Given the description of an element on the screen output the (x, y) to click on. 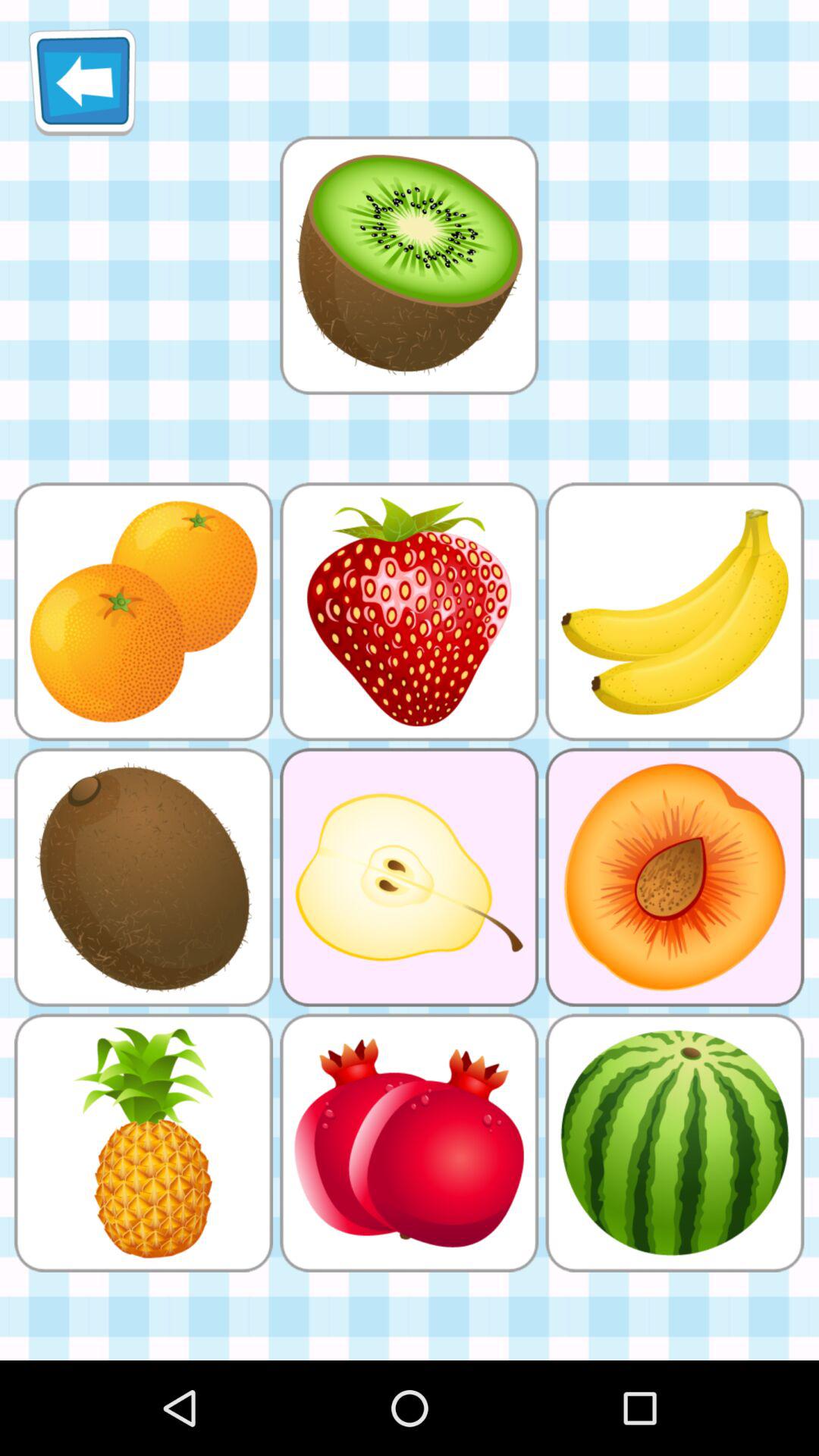
go back (82, 82)
